Given the description of an element on the screen output the (x, y) to click on. 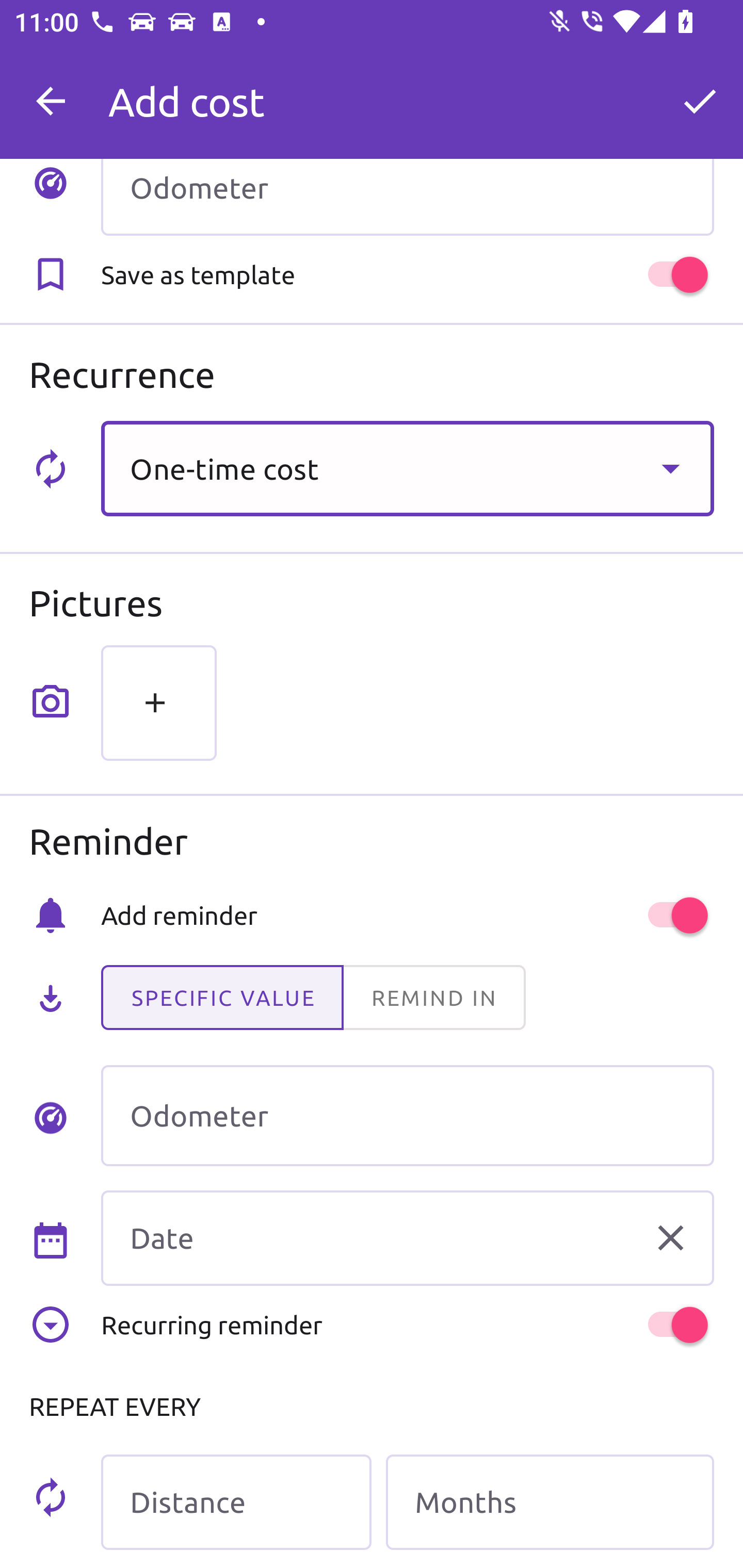
M My Car 0 km (407, 92)
Navigate up (50, 101)
OK (699, 101)
Odometer (407, 196)
Save as template (407, 274)
One-time cost (407, 467)
Show dropdown menu (670, 467)
Add reminder (407, 914)
SPECIFIC VALUE (222, 997)
REMIND IN (433, 997)
Odometer (407, 1115)
Date (407, 1237)
Delete (670, 1237)
Recurring reminder (407, 1324)
Distance (236, 1502)
Months (549, 1502)
